Given the description of an element on the screen output the (x, y) to click on. 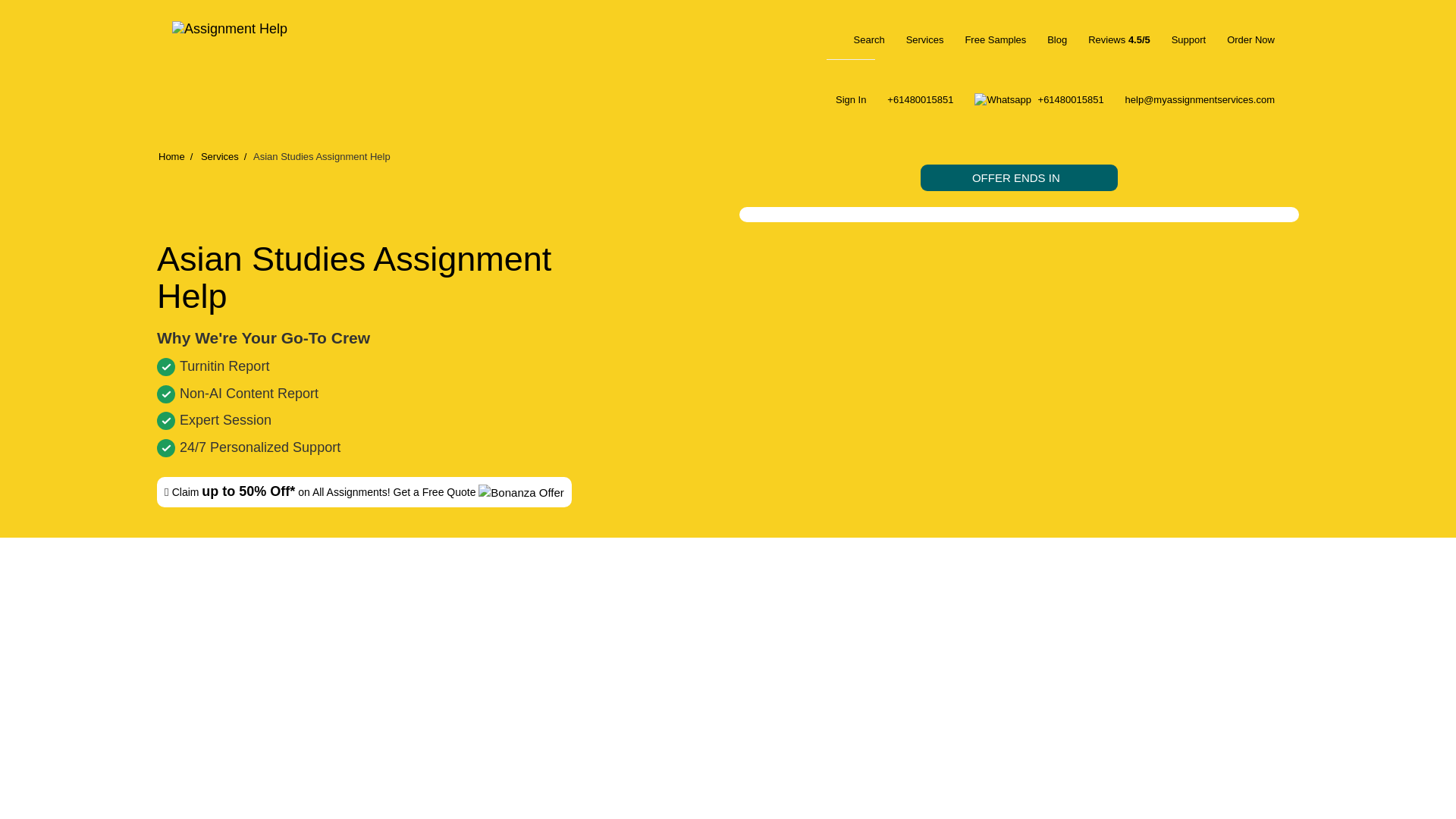
Services (924, 29)
Free Samples (994, 29)
Assignment Help (255, 34)
